Given the description of an element on the screen output the (x, y) to click on. 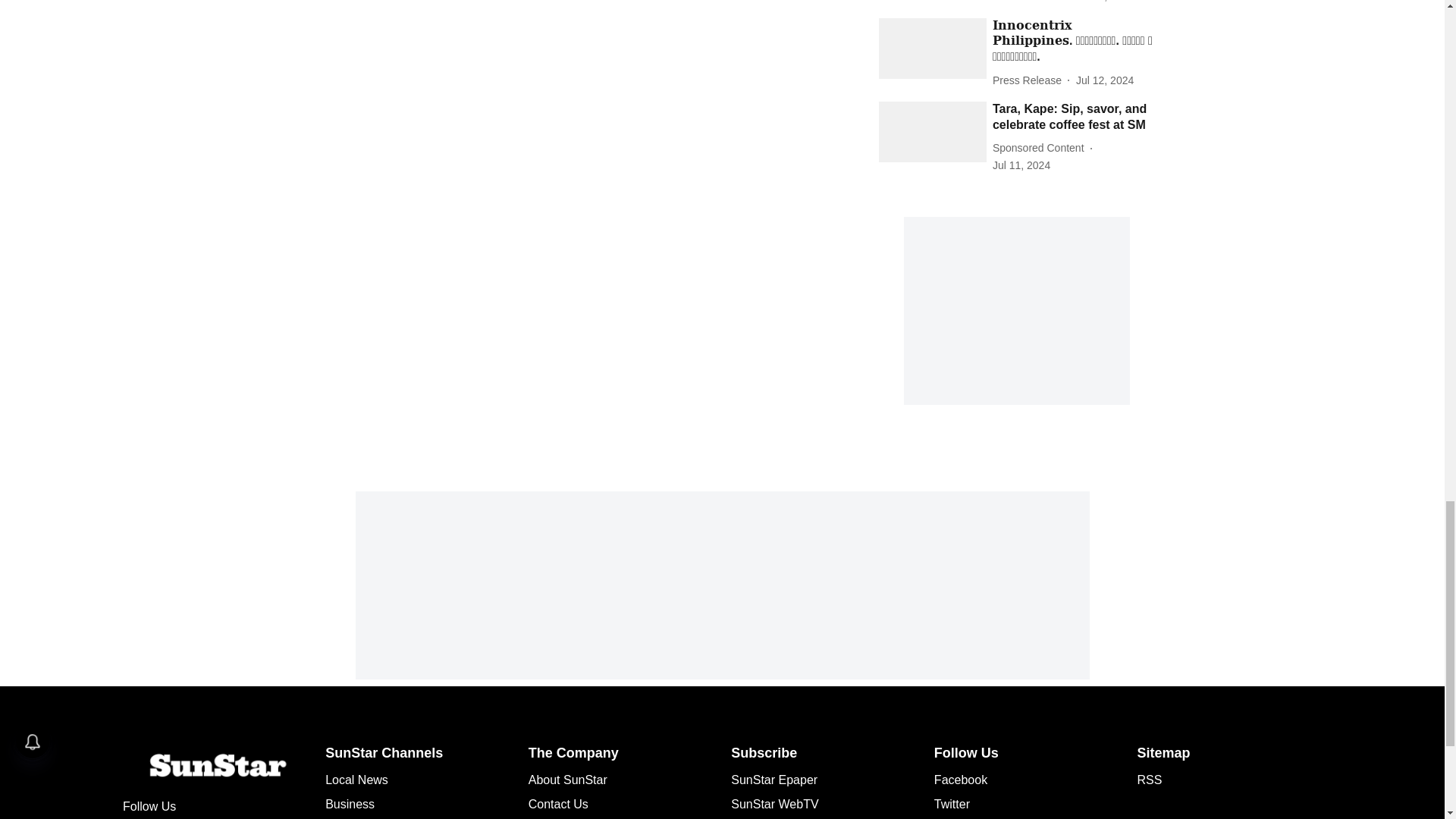
2024-07-11 00:59 (1020, 165)
2024-07-12 02:00 (1104, 80)
2024-07-12 07:00 (1104, 2)
